Given the description of an element on the screen output the (x, y) to click on. 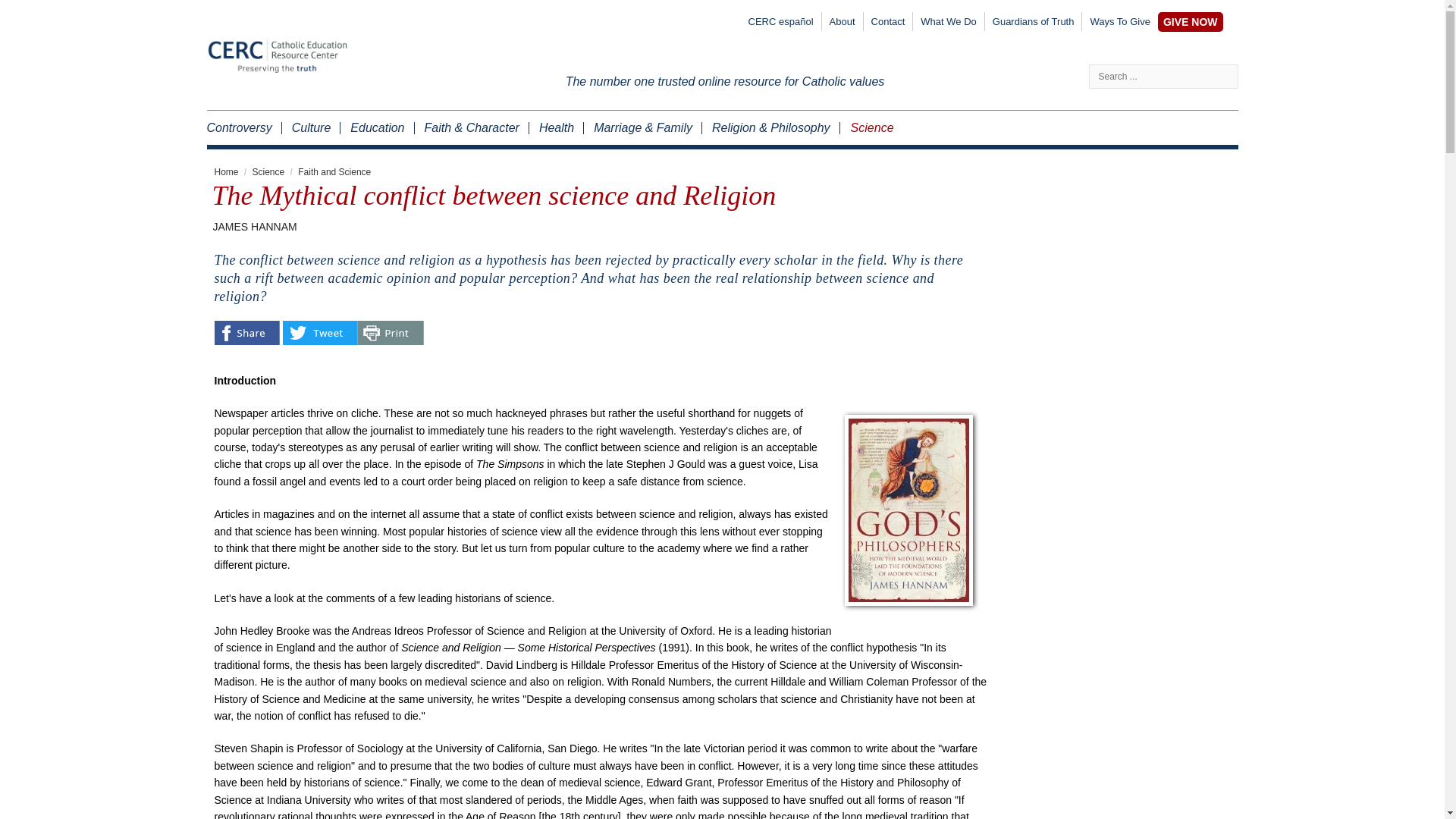
Health (555, 128)
Home (226, 172)
Controversy (243, 128)
Science (268, 172)
Faith and Science (334, 172)
GIVE NOW (1190, 21)
Culture (310, 128)
About (842, 24)
What We Do (948, 24)
Guardians of Truth (1033, 24)
Science (866, 128)
Ways To Give (1119, 24)
Education (376, 128)
Contact (887, 24)
